Given the description of an element on the screen output the (x, y) to click on. 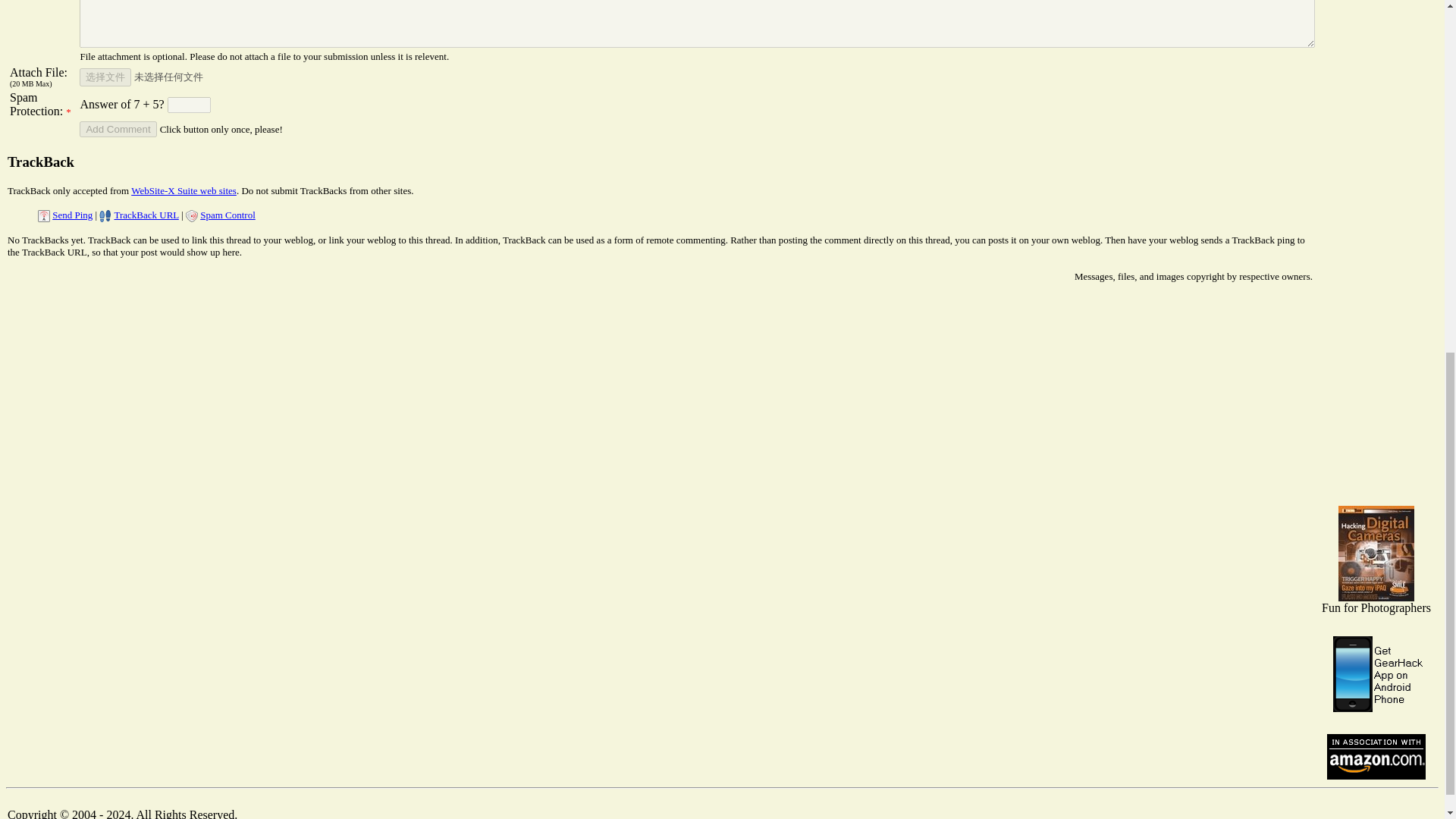
Add Comment (117, 129)
WebSite-X Suite web sites (183, 190)
TrackBack URL (145, 214)
Send Ping (72, 214)
Spam Control (228, 214)
TrackBack (40, 161)
Add Comment (117, 129)
